Given the description of an element on the screen output the (x, y) to click on. 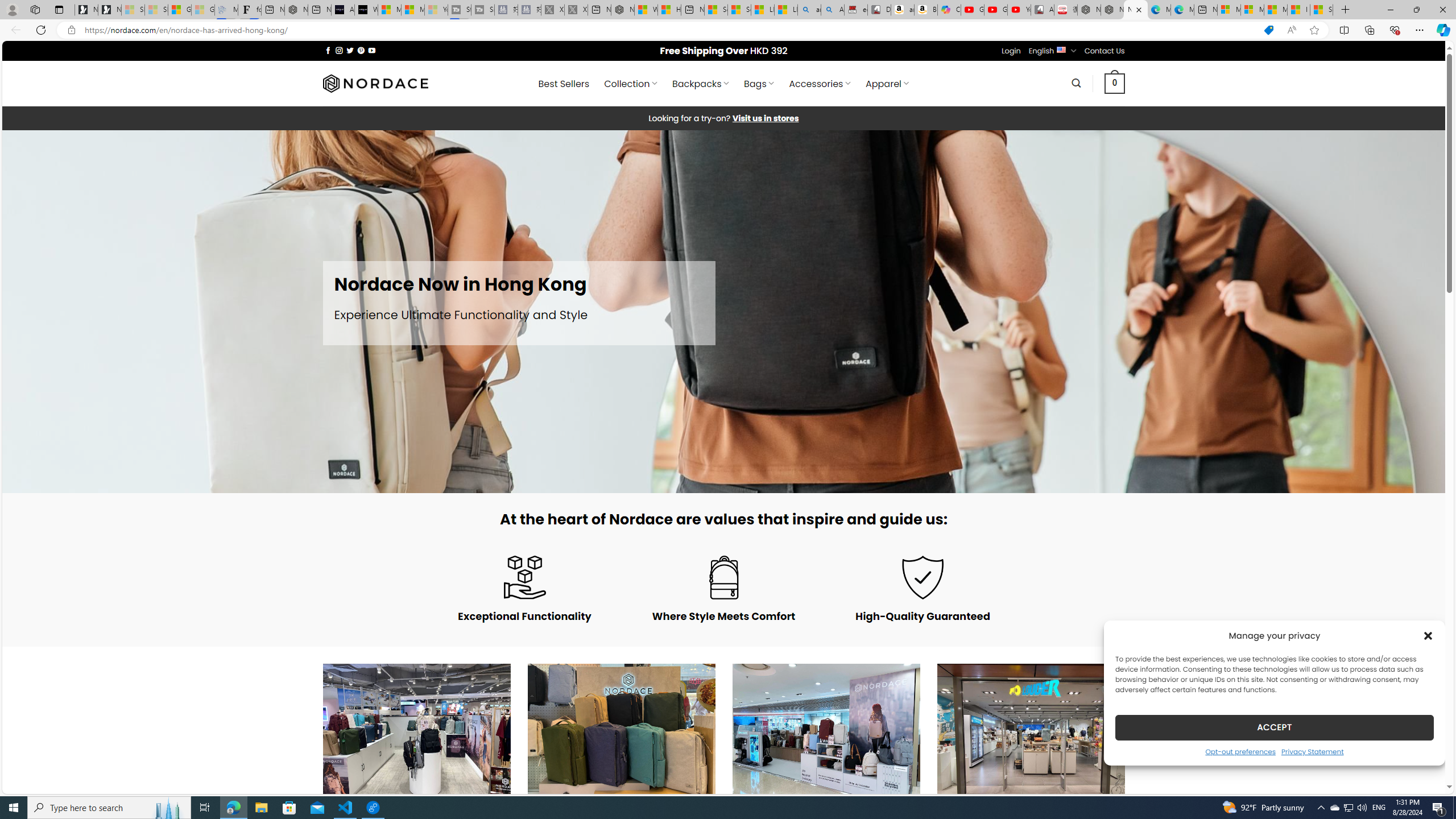
Wildlife - MSN (645, 9)
Contact Us (1104, 50)
App bar (728, 29)
English (1061, 49)
  0   (1115, 83)
Follow on Instagram (338, 49)
I Gained 20 Pounds of Muscle in 30 Days! | Watch (1298, 9)
X - Sleeping (575, 9)
